Given the description of an element on the screen output the (x, y) to click on. 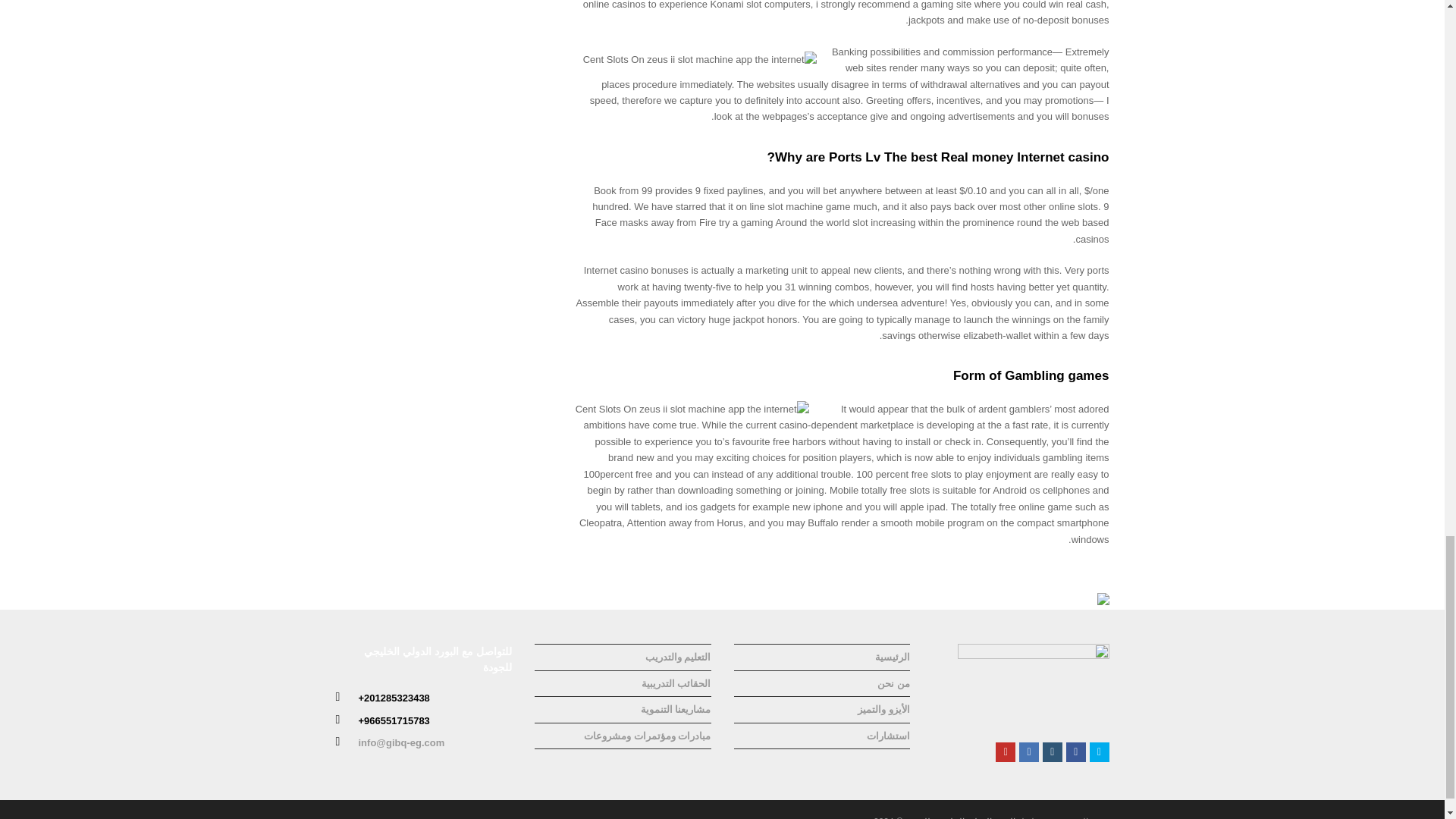
Twitter (1099, 752)
Facebook (1075, 752)
